Given the description of an element on the screen output the (x, y) to click on. 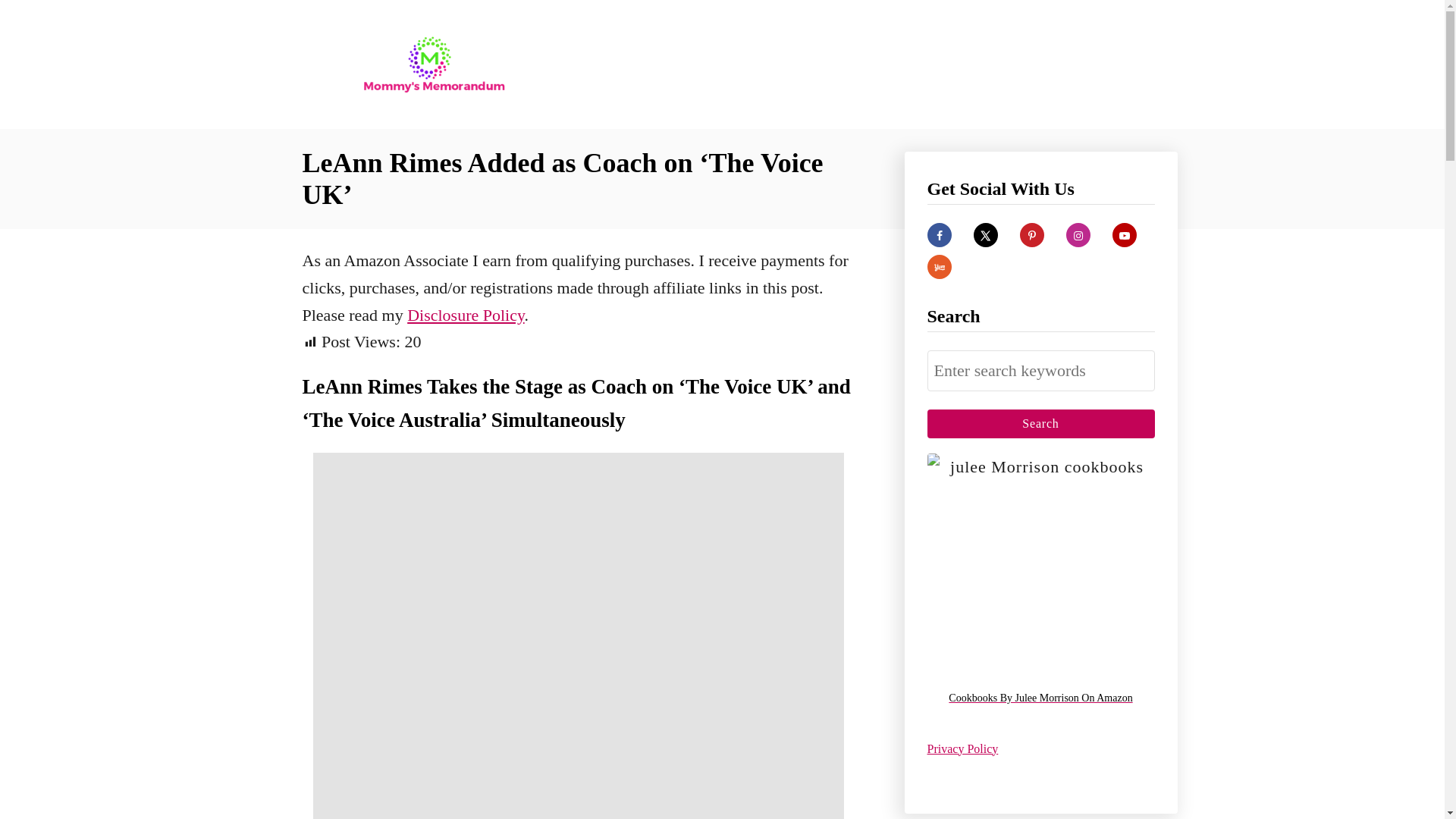
Search (1040, 423)
Follow on Pinterest (1031, 234)
Cookbooks By Julee Morrison On Amazon (1040, 698)
Disclosure Policy (465, 313)
Search for: (1040, 370)
Follow on Facebook (938, 234)
Follow on Instagram (1077, 234)
Follow on X (985, 234)
Search (1040, 423)
Privacy Policy (961, 748)
Follow on YouTube (1124, 234)
Mommy's Memorandum (433, 64)
Follow on Yummly (938, 266)
Search (1040, 423)
